Given the description of an element on the screen output the (x, y) to click on. 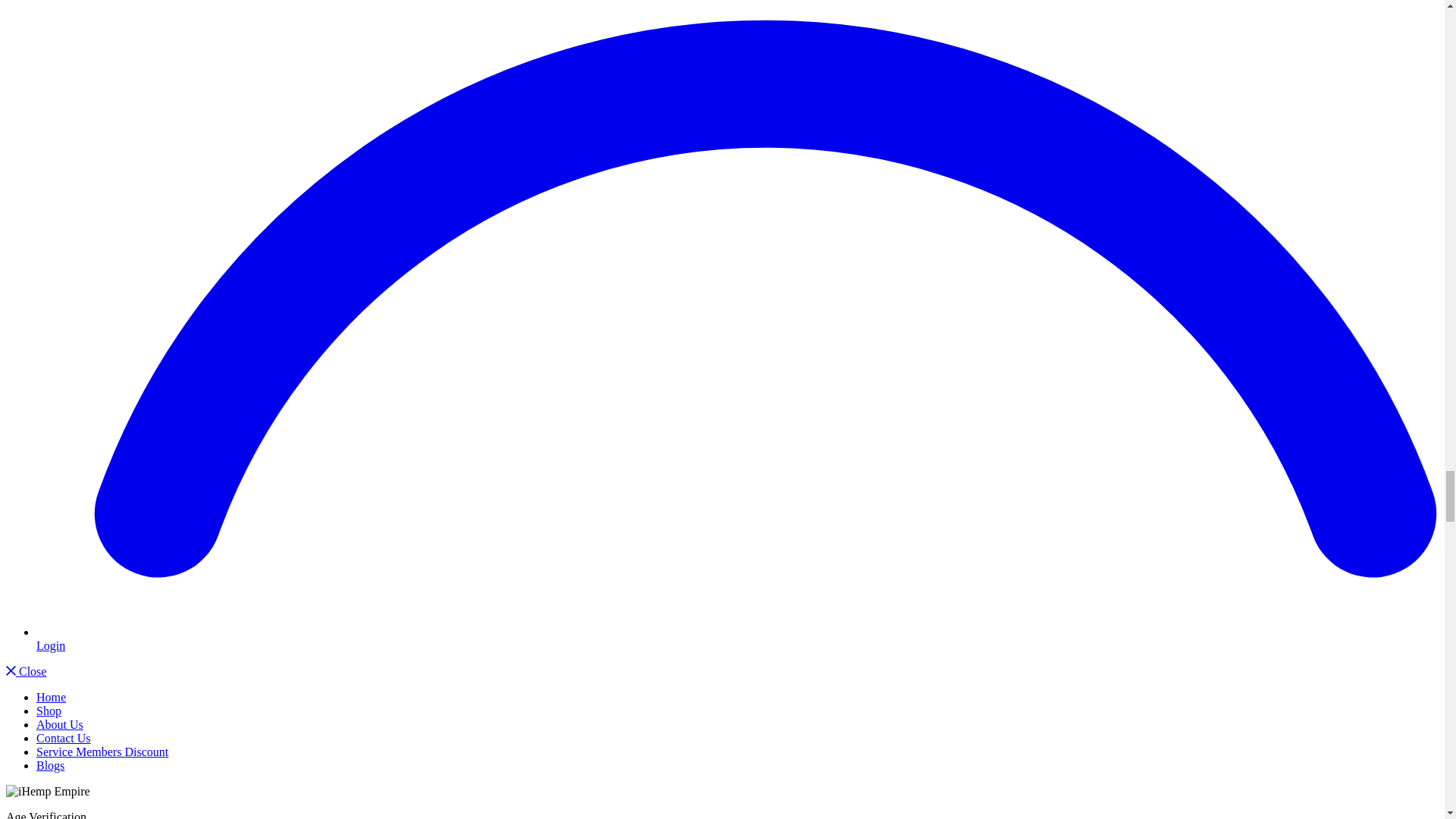
Close (25, 671)
Contact Us (63, 738)
About Us (59, 724)
Home (50, 697)
Blogs (50, 765)
Service Members Discount (102, 751)
Shop (48, 710)
